Given the description of an element on the screen output the (x, y) to click on. 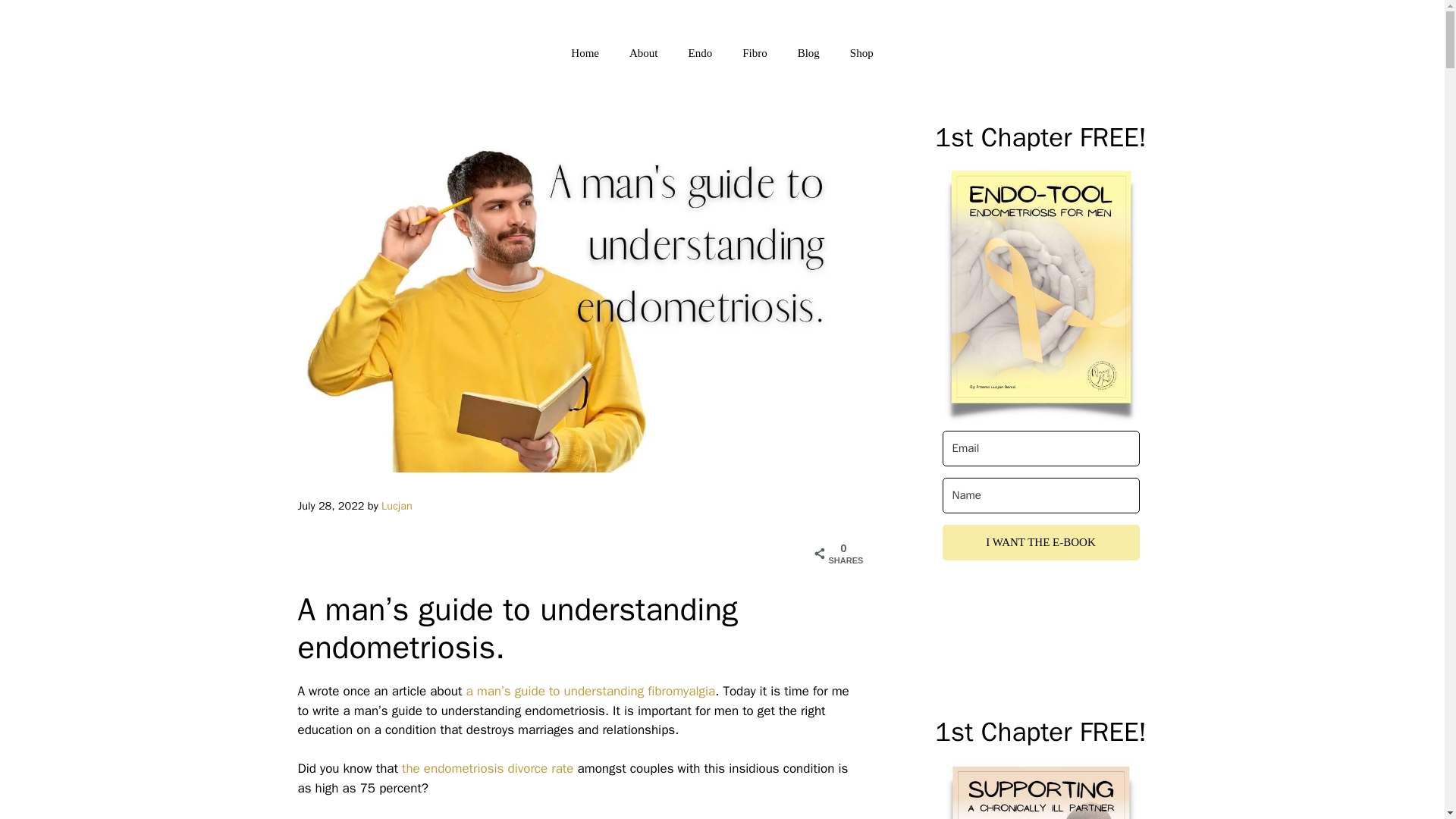
Home (585, 53)
Shop (861, 53)
Endo (699, 53)
Blog (808, 53)
Fibro (754, 53)
Lucjan (396, 505)
About (643, 53)
View all posts by Lucjan (396, 505)
the endometriosis divorce rate (487, 768)
